Given the description of an element on the screen output the (x, y) to click on. 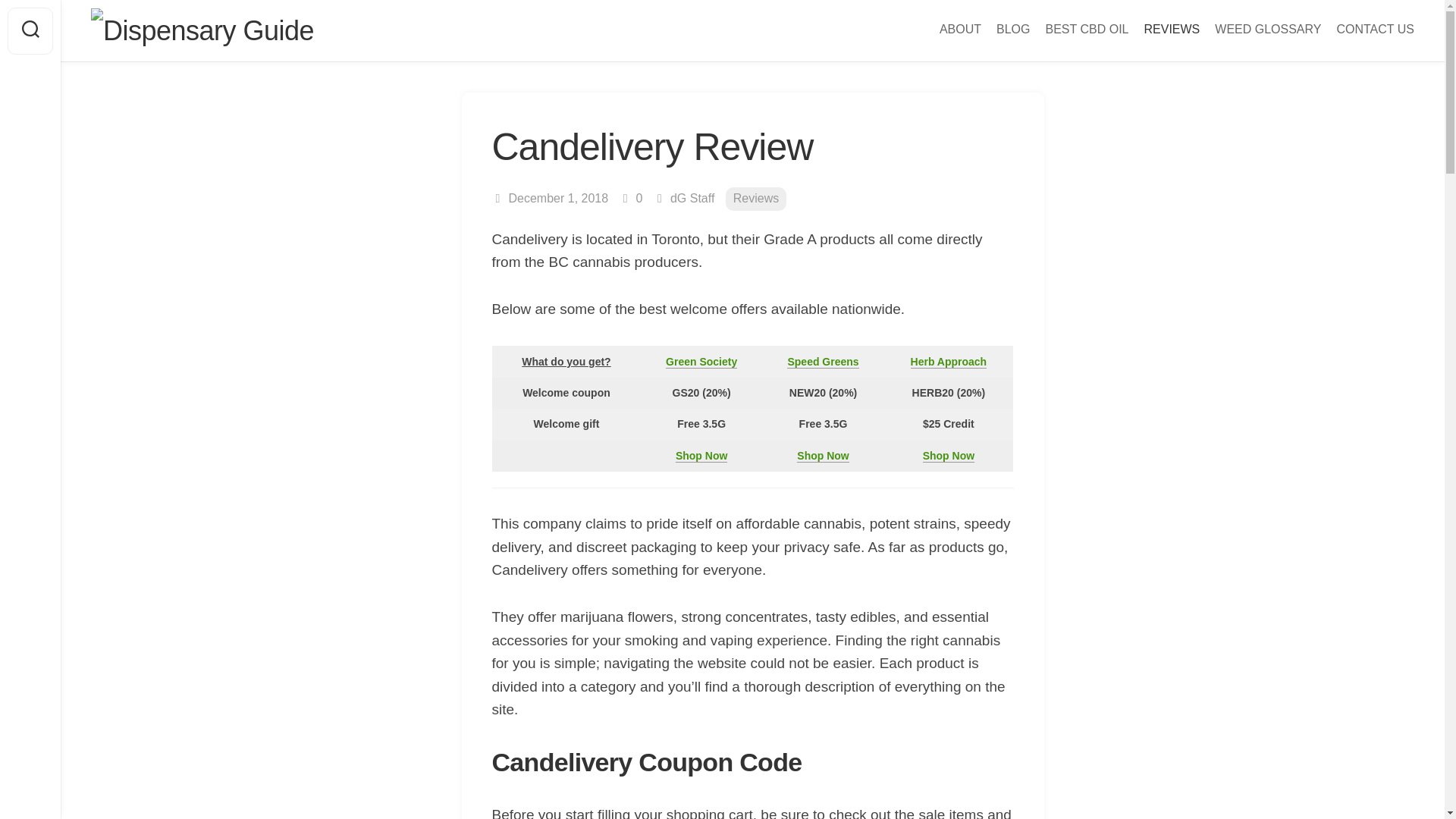
BEST CBD OIL (1087, 29)
Green Society (700, 361)
Shop Now (948, 455)
Herb Approach (949, 361)
REVIEWS (1170, 29)
BLOG (1012, 29)
Shop Now (700, 455)
Shop Now (822, 455)
Speed Greens (823, 361)
dG Staff (691, 197)
Posts by dG Staff (691, 197)
ABOUT (960, 29)
Reviews (755, 198)
CONTACT US (1374, 29)
WEED GLOSSARY (1267, 29)
